Given the description of an element on the screen output the (x, y) to click on. 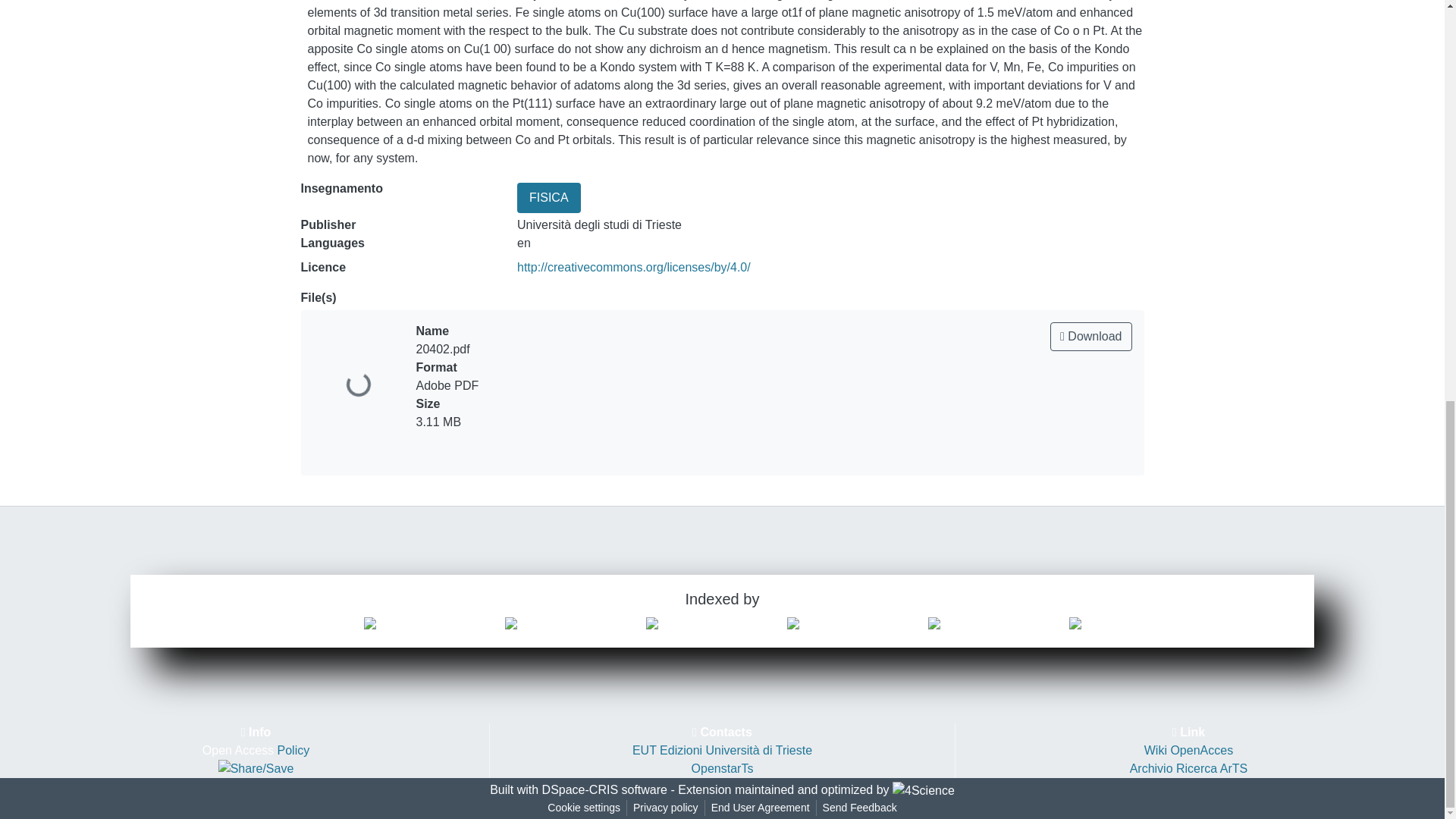
FISICA (548, 197)
